Given the description of an element on the screen output the (x, y) to click on. 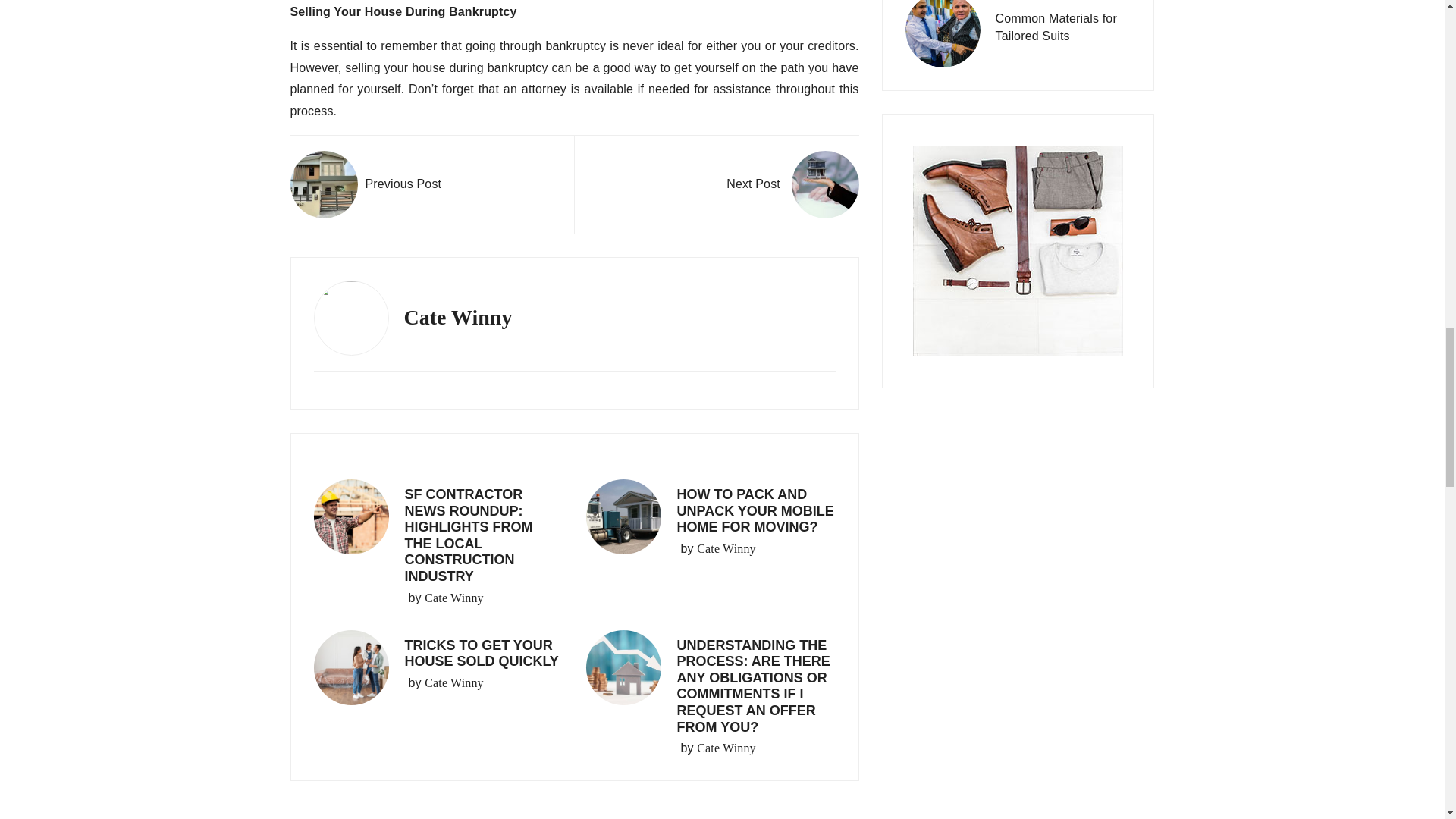
Cate Winny (726, 548)
Next Post (792, 184)
Previous Post (365, 184)
TRICKS TO GET YOUR HOUSE SOLD QUICKLY (481, 653)
HOW TO PACK AND UNPACK YOUR MOBILE HOME FOR MOVING? (754, 510)
Cate Winny (726, 748)
Cate Winny (454, 597)
Cate Winny (454, 683)
